Given the description of an element on the screen output the (x, y) to click on. 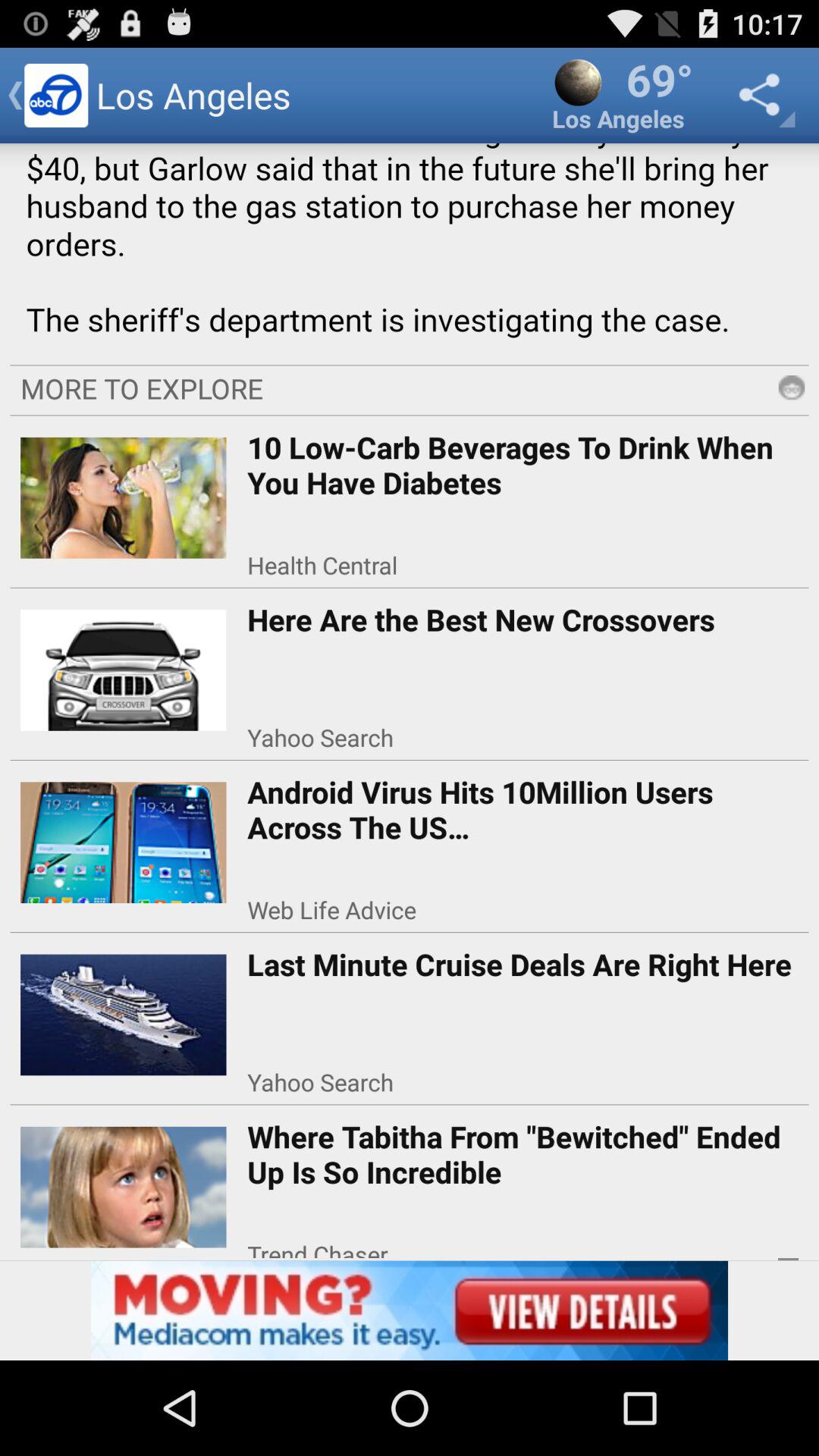
open add moving (409, 1310)
